Given the description of an element on the screen output the (x, y) to click on. 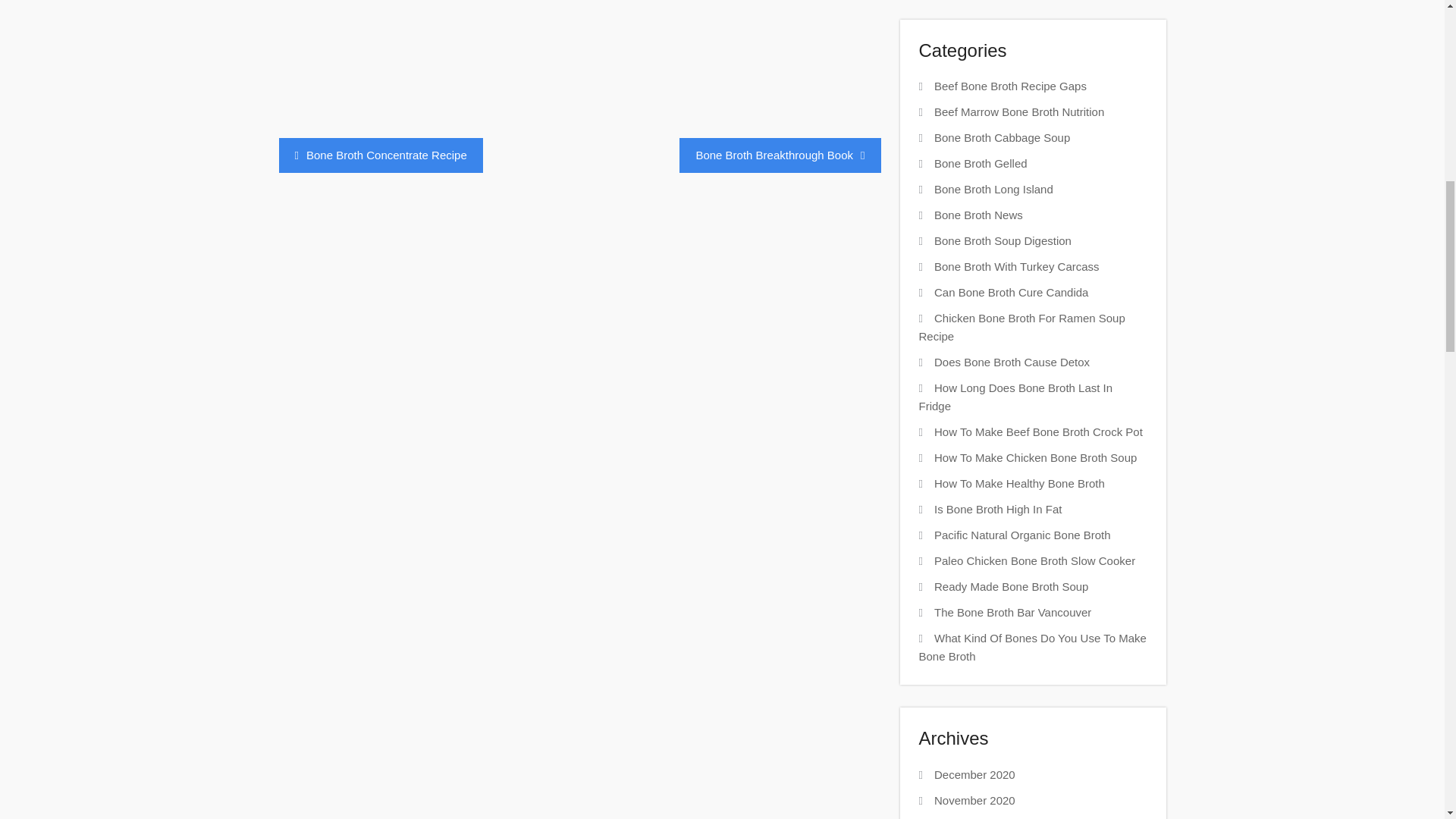
Paleo Chicken Bone Broth Slow Cooker (1034, 560)
The Bone Broth Bar Vancouver (1012, 612)
How To Make Healthy Bone Broth (1019, 482)
Can Bone Broth Cure Candida (1010, 291)
Bone Broth News (978, 214)
Bone Broth Soup Digestion (1002, 240)
Chicken Bone Broth For Ramen Soup Recipe (1021, 327)
Beef Marrow Bone Broth Nutrition (1018, 111)
Bone Broth Long Island (993, 188)
Beef Bone Broth Recipe Gaps (1010, 85)
Bone Broth Breakthrough Book (779, 155)
Bone Broth Cabbage Soup (1002, 137)
Ready Made Bone Broth Soup (1010, 585)
Pacific Natural Organic Bone Broth (1022, 534)
How To Make Chicken Bone Broth Soup (1035, 457)
